Given the description of an element on the screen output the (x, y) to click on. 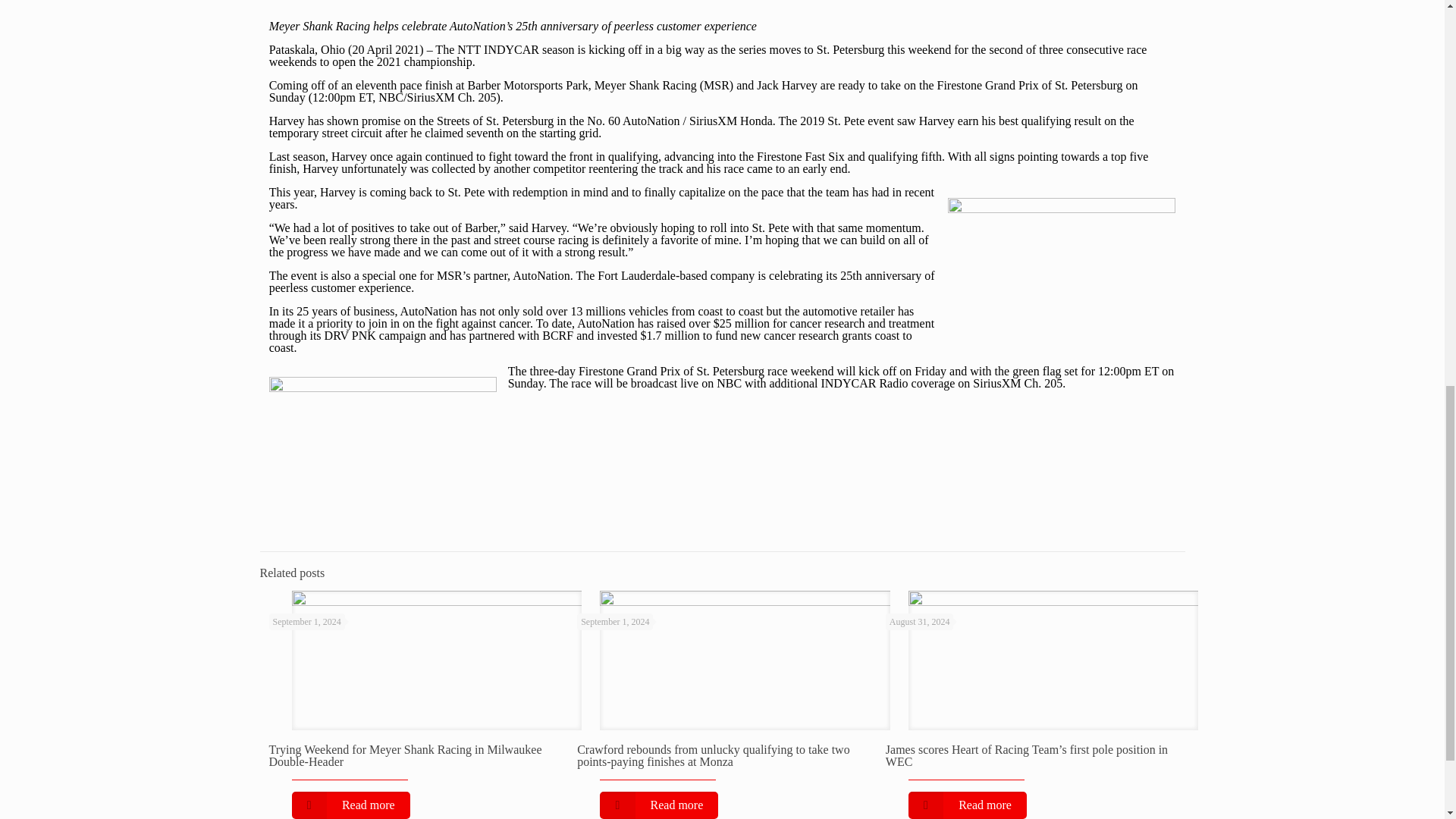
Read more (967, 805)
Read more (658, 805)
Read more (350, 805)
